Given the description of an element on the screen output the (x, y) to click on. 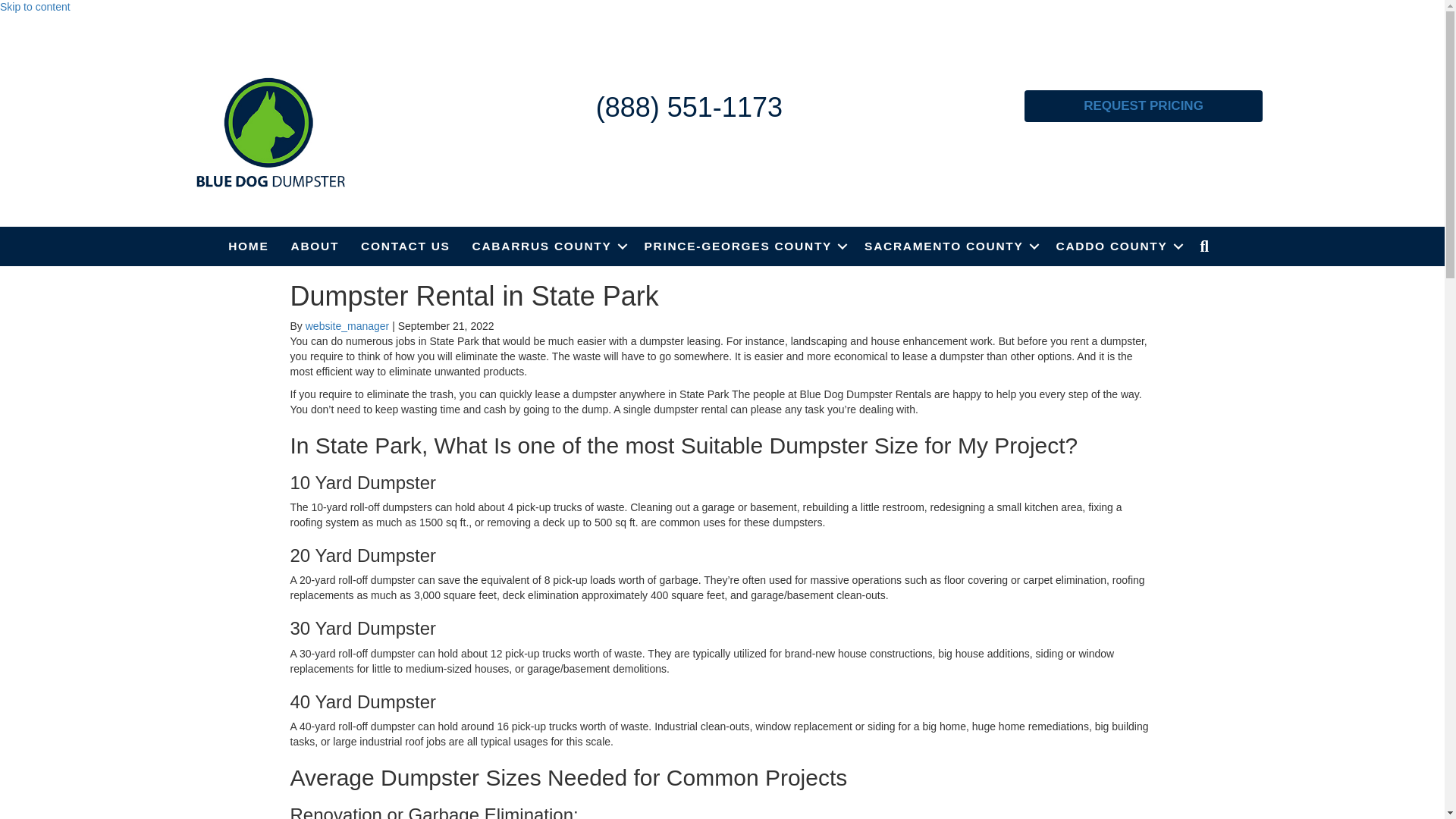
REQUEST PRICING (1144, 106)
Skip to content (34, 6)
ABOUT (315, 246)
PRINCE-GEORGES COUNTY (743, 246)
SACRAMENTO COUNTY (948, 246)
HOME (247, 246)
CONTACT US (405, 246)
CABARRUS COUNTY (547, 246)
bluedogdumpster (269, 131)
